Given the description of an element on the screen output the (x, y) to click on. 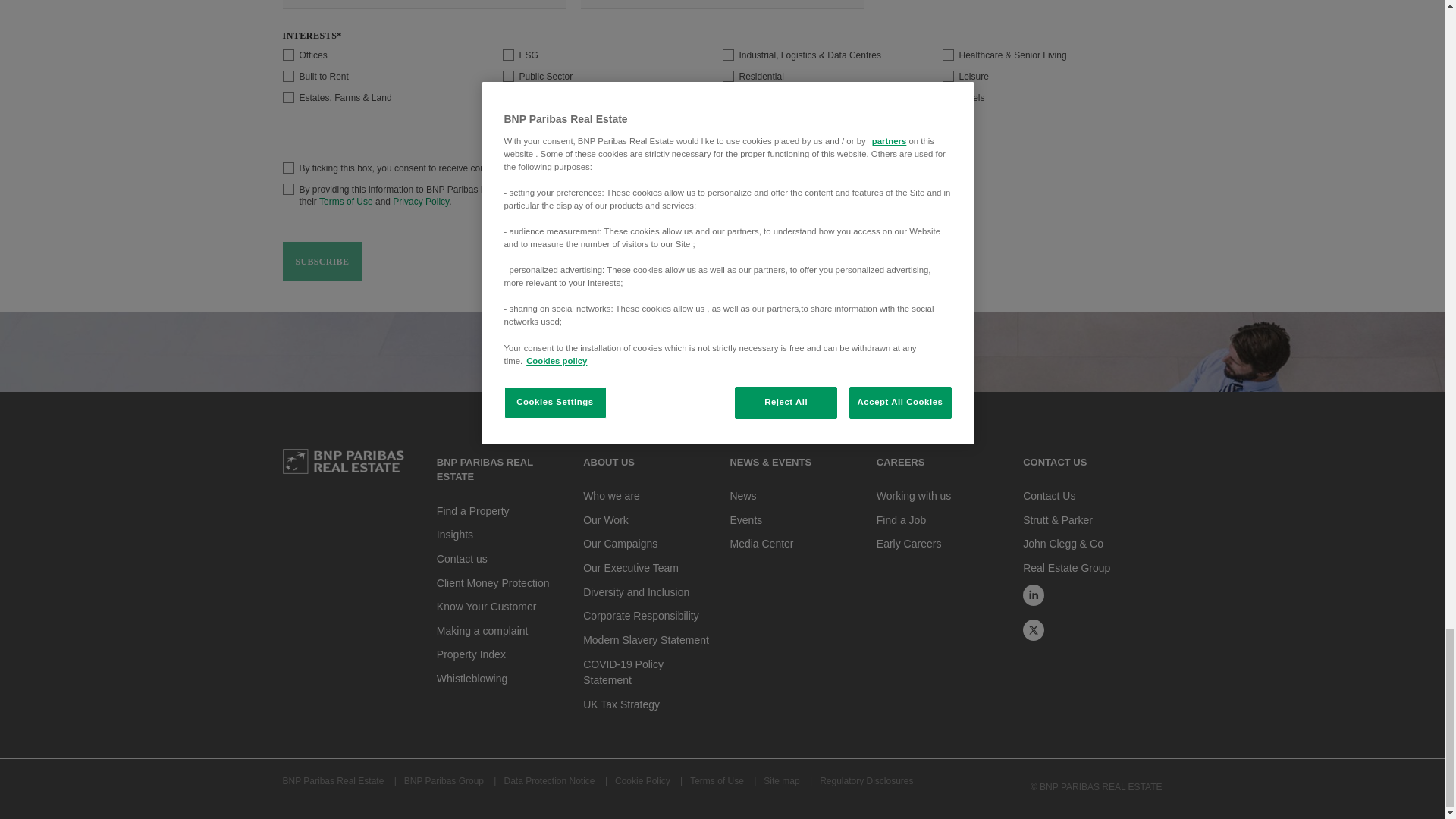
Modern Slavery Statement (646, 639)
COVID-19 Policy Statement (623, 671)
